Given the description of an element on the screen output the (x, y) to click on. 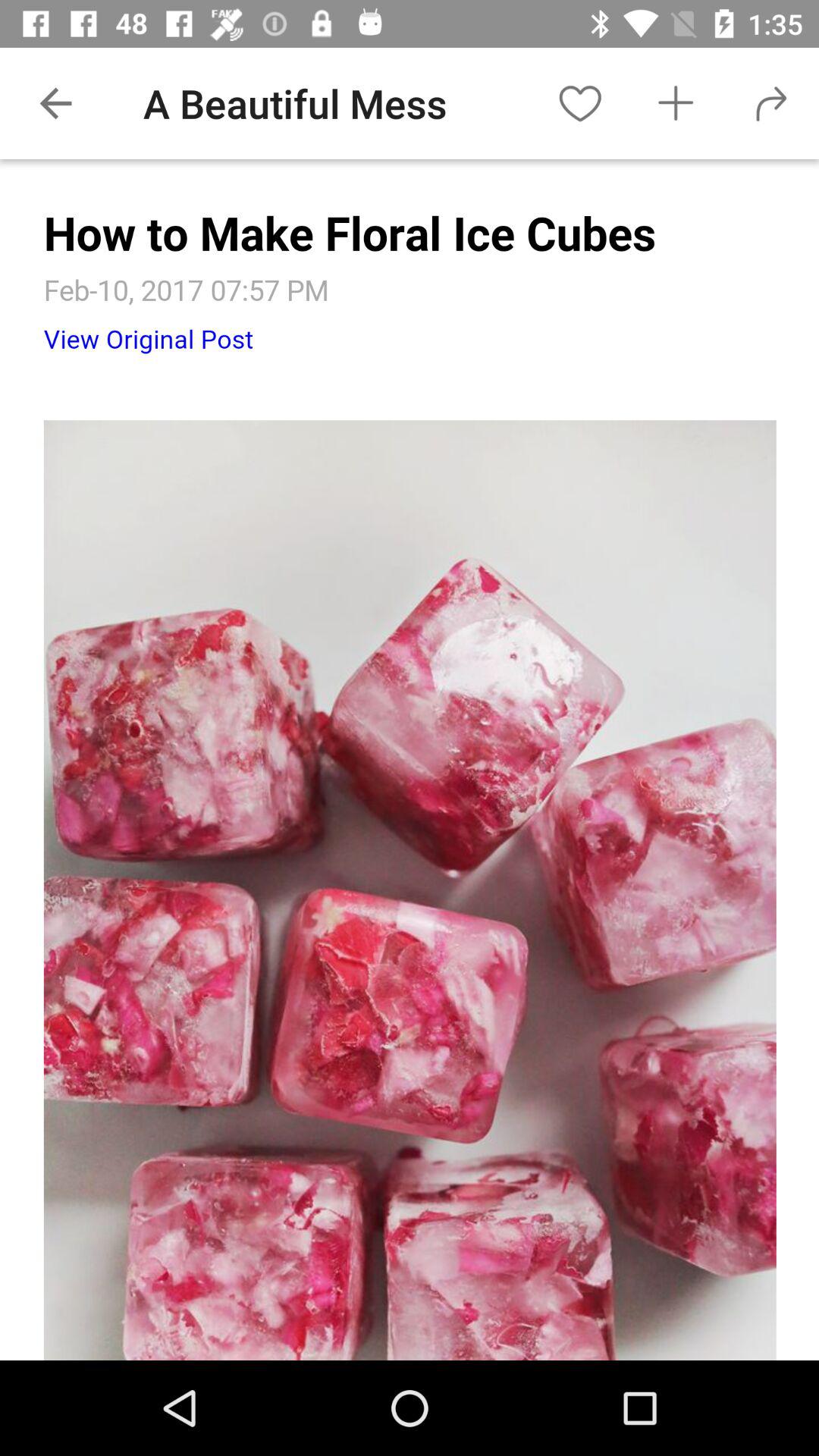
select the image (409, 759)
